Given the description of an element on the screen output the (x, y) to click on. 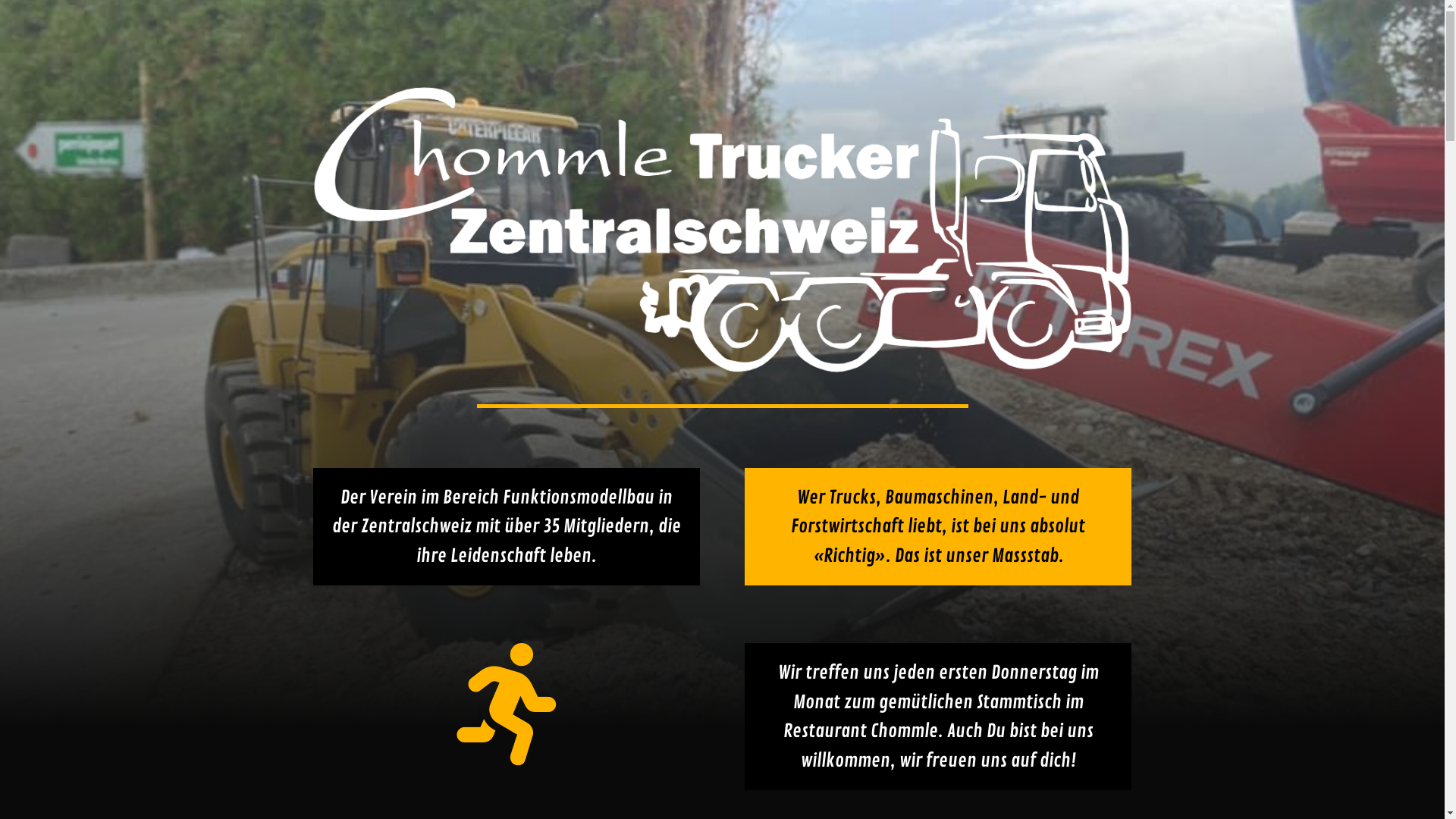
Chommle-Trucker Treffen 2022 Element type: hover (721, 229)
